Given the description of an element on the screen output the (x, y) to click on. 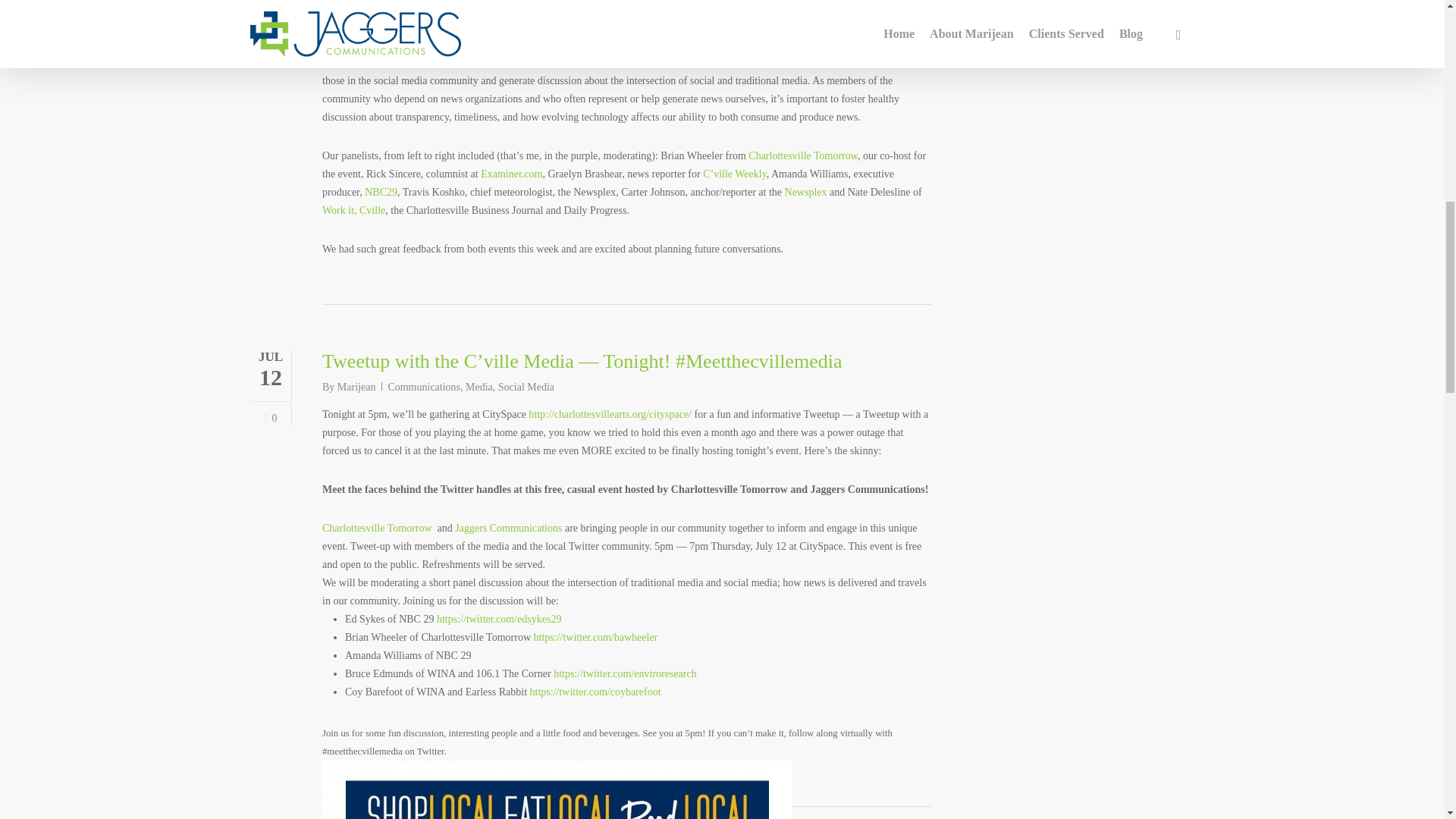
Love this (269, 419)
Marijean (356, 387)
Newsplex (805, 192)
charlottesville tomorrow (435, 27)
Charlottesville Tomorrow (802, 155)
NBC29 (381, 192)
Posts by Marijean (356, 387)
cville tomorrow (556, 789)
Work it, Cville (353, 210)
Examiner.com (510, 173)
0 (269, 419)
